Given the description of an element on the screen output the (x, y) to click on. 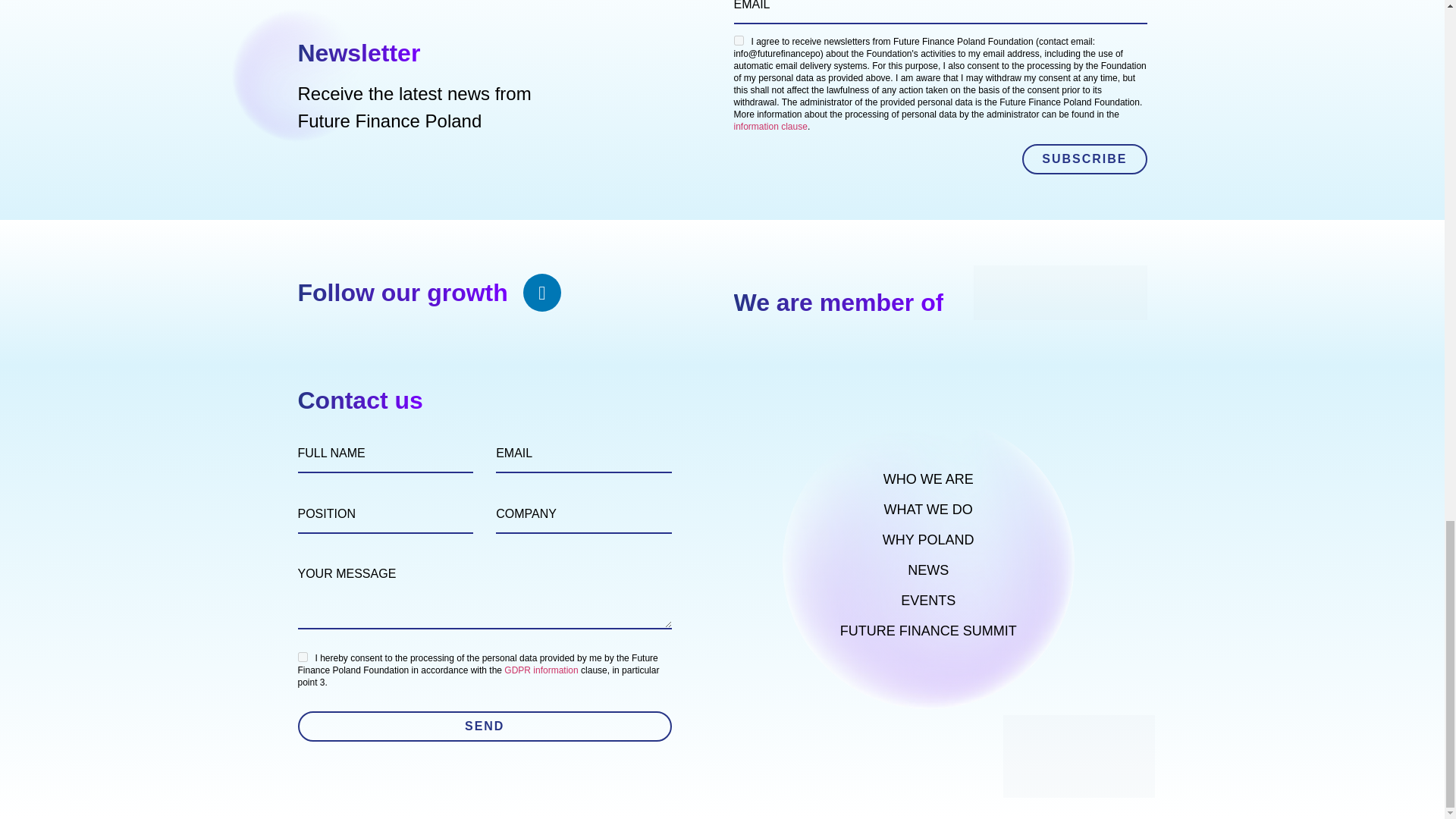
information clause (770, 126)
SUBSCRIBE (1084, 159)
on (302, 656)
on (738, 40)
